Given the description of an element on the screen output the (x, y) to click on. 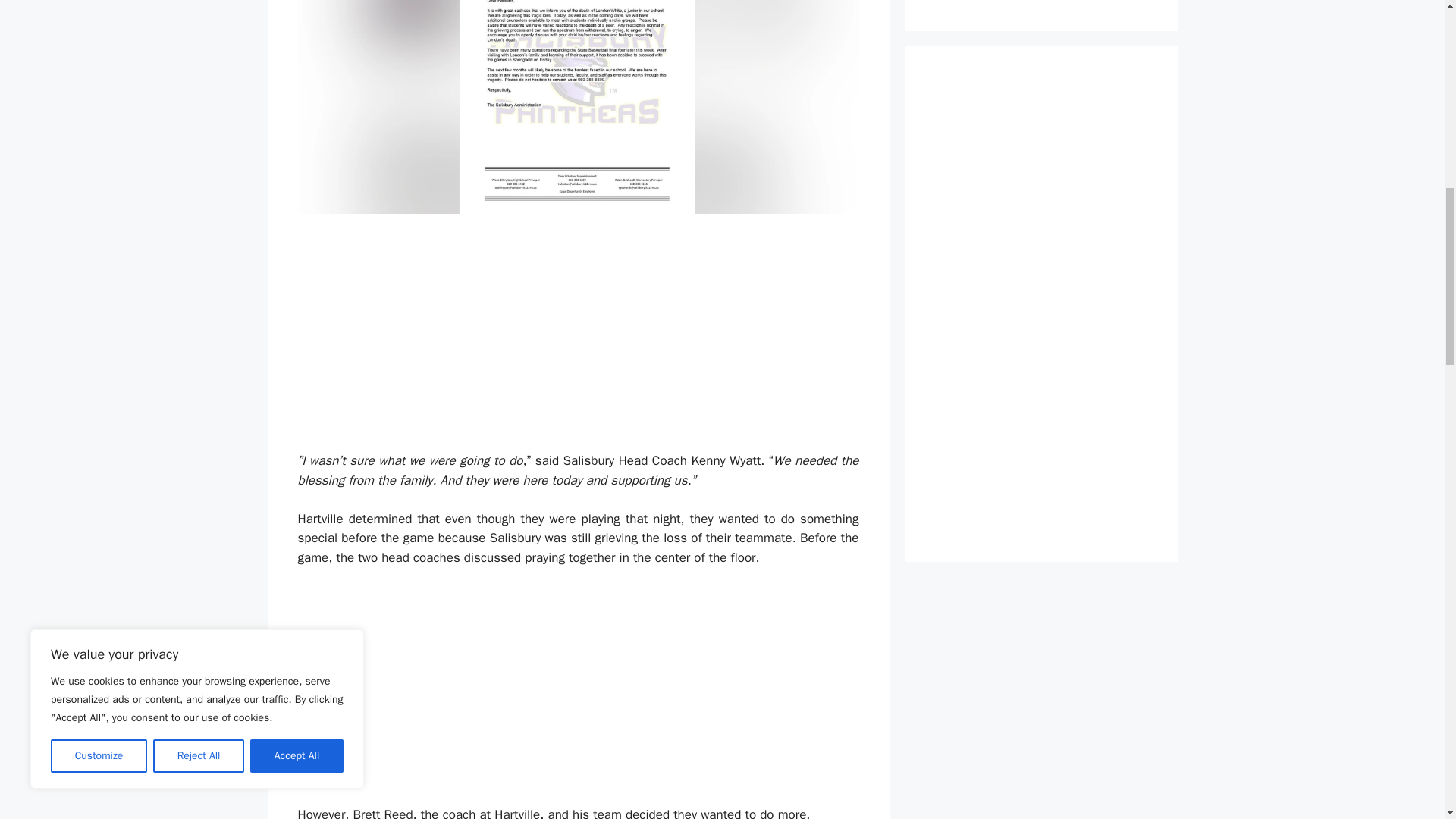
Scroll back to top (1406, 727)
